Given the description of an element on the screen output the (x, y) to click on. 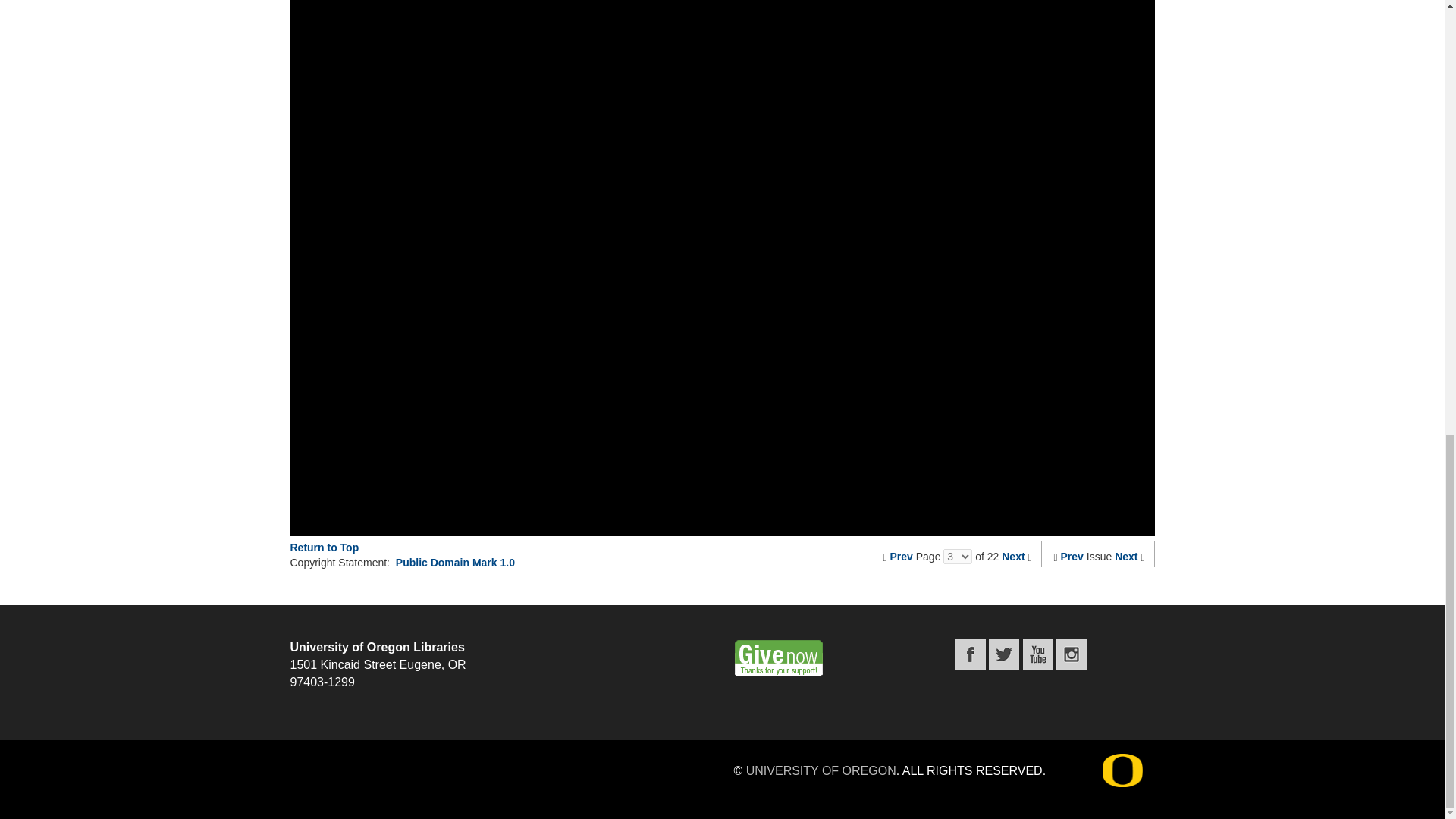
Next (1126, 556)
Next (1013, 556)
Prev (1072, 556)
Prev (900, 556)
Public Domain Mark 1.0 (455, 562)
Return to Top (323, 547)
